Given the description of an element on the screen output the (x, y) to click on. 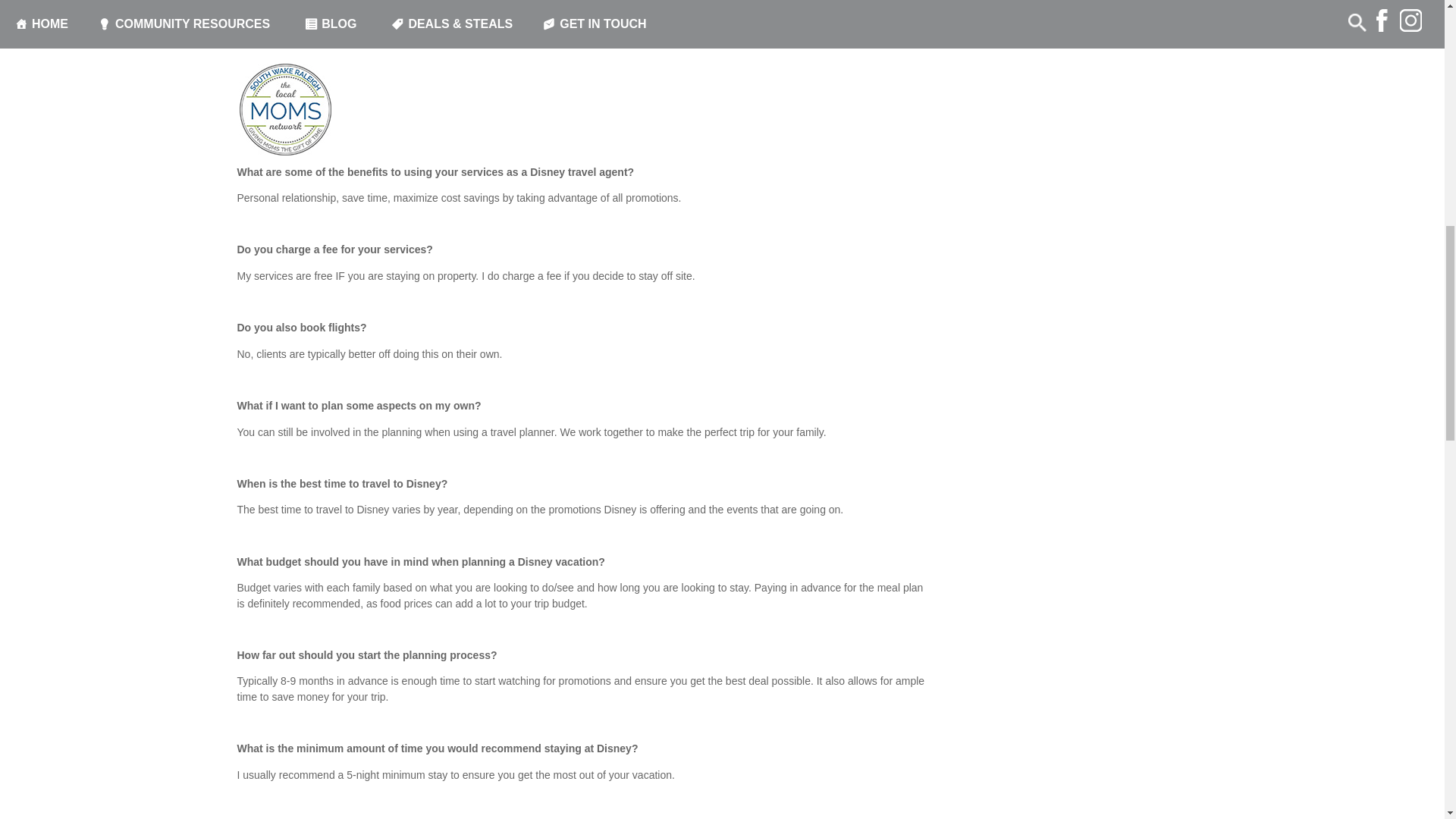
Glass Slipper Concierge (340, 88)
